Given the description of an element on the screen output the (x, y) to click on. 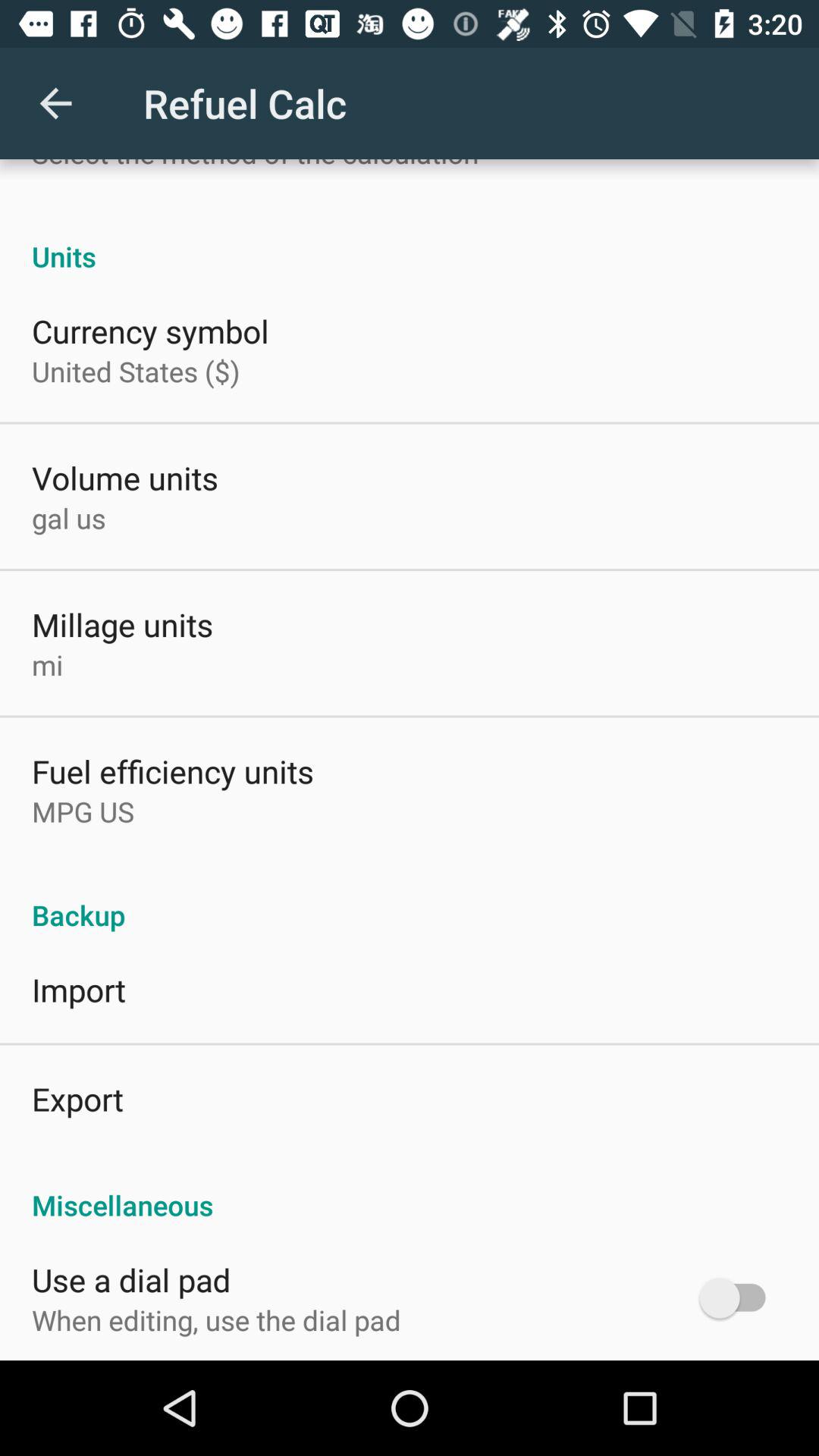
press item below miscellaneous icon (739, 1298)
